Given the description of an element on the screen output the (x, y) to click on. 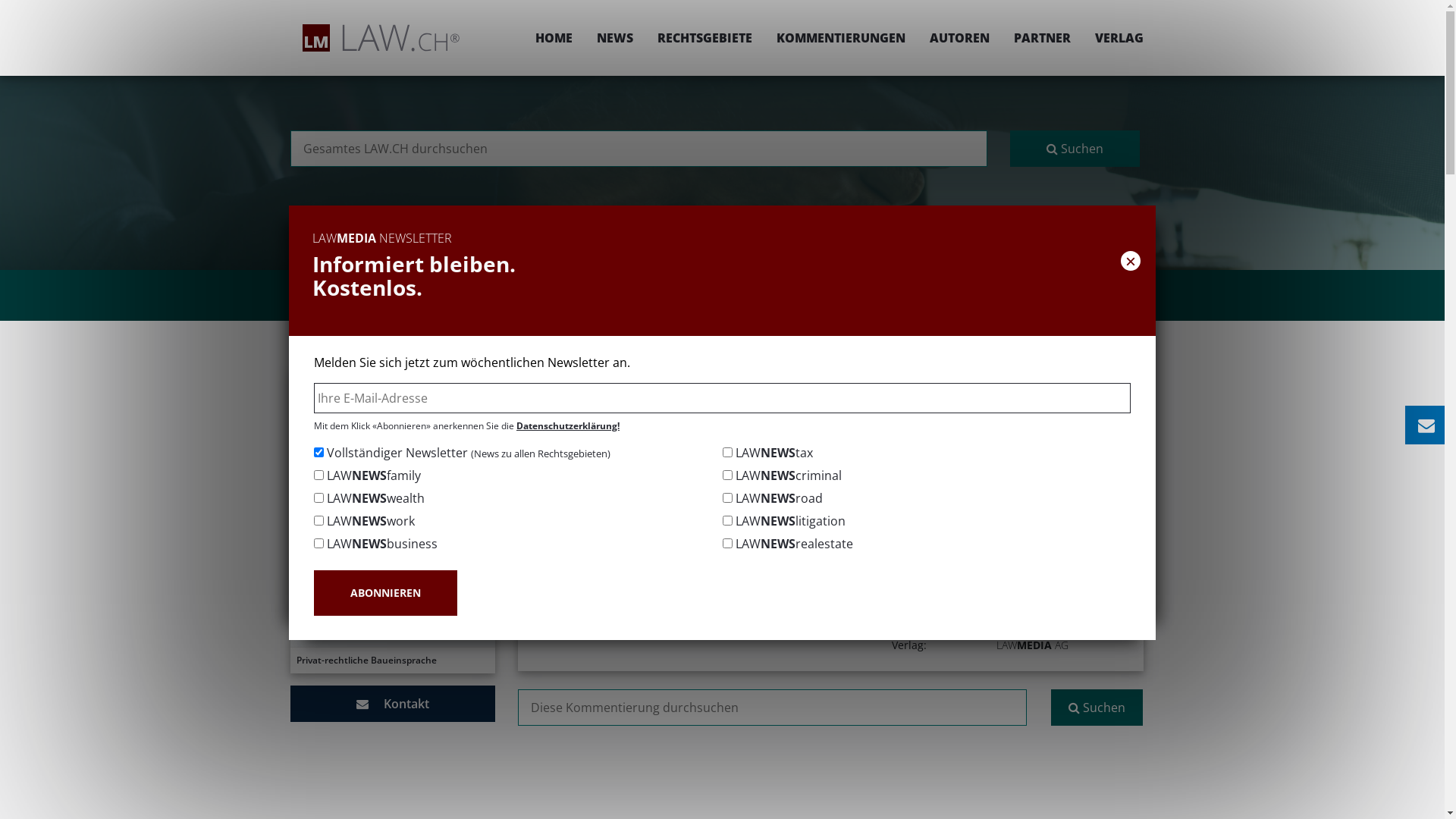
NEWS Element type: text (613, 37)
Materielles Element type: text (391, 527)
Einleitung zur Baueinsprache in der Schweiz Element type: text (391, 387)
AUTOREN Element type: text (959, 37)
VERLAG Element type: text (1112, 37)
 DRUCKEN / PDF Element type: text (1096, 426)
KOMMENTIERUNGEN Element type: text (840, 37)
Rechtsgebiete Element type: text (697, 375)
Grundlagen Element type: text (391, 448)
HOME Element type: text (553, 37)
    Kontakt Element type: text (391, 703)
Formelles Element type: text (391, 501)
ABONNIEREN Element type: text (385, 592)
Einspracheverzicht Element type: text (391, 607)
Home Element type: text (628, 375)
Suchen nach: Element type: hover (637, 148)
 TEILEN Element type: text (991, 426)
Baueinsprache-Unterlassung Element type: text (391, 633)
Privat-rechtliche Baueinsprache Element type: text (391, 660)
Inhaltsverzeichnis Element type: text (391, 421)
Skip to content Element type: text (1443, 0)
PARTNER Element type: text (1041, 37)
RECHTSGEBIETE Element type: text (703, 37)
Suchen nach: Element type: hover (771, 707)
